Given the description of an element on the screen output the (x, y) to click on. 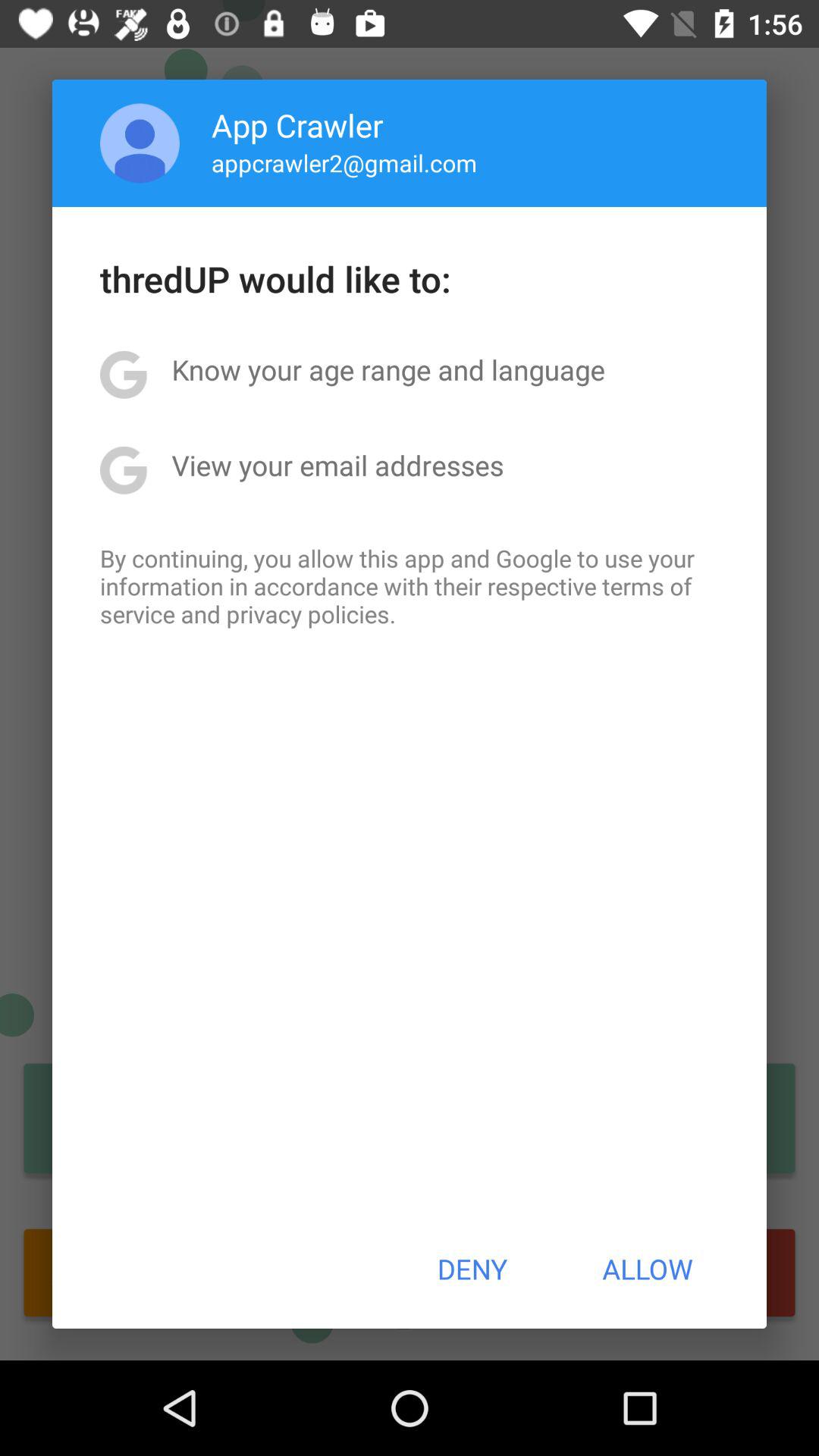
tap app crawler item (297, 124)
